Given the description of an element on the screen output the (x, y) to click on. 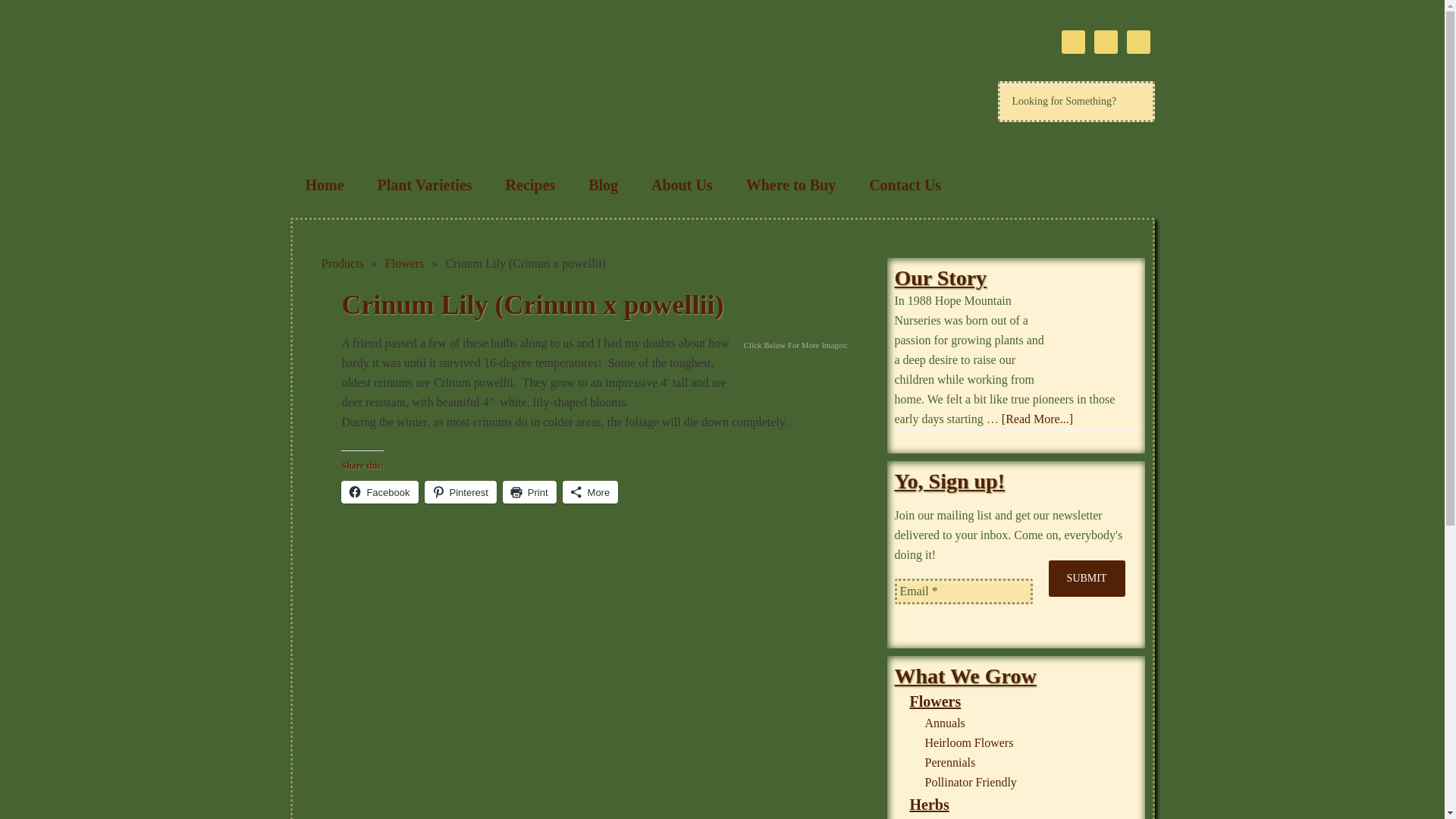
Submit (1086, 578)
Products (342, 263)
Perennials (949, 762)
Submit (1086, 578)
Herbs (929, 804)
Heirloom Flowers (968, 742)
Annuals (944, 722)
Home (323, 184)
Contact Us (904, 184)
Pollinator Friendly (970, 781)
Click to share on Pinterest (460, 491)
Click to share on Facebook (378, 491)
